Given the description of an element on the screen output the (x, y) to click on. 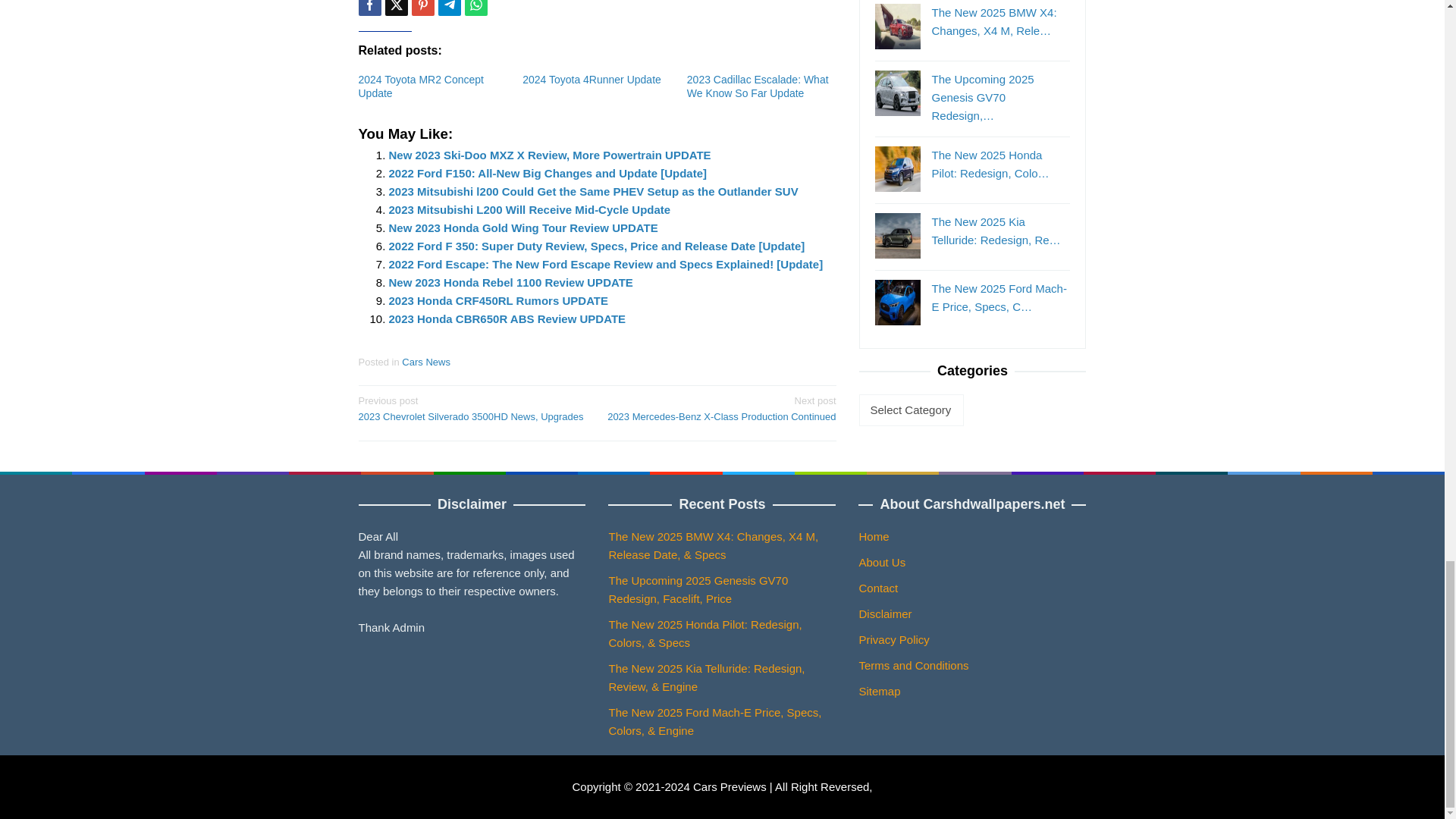
Telegram Share (449, 7)
Share this (369, 7)
Whatsapp (475, 7)
Pin this (421, 7)
Tweet this (396, 7)
